Given the description of an element on the screen output the (x, y) to click on. 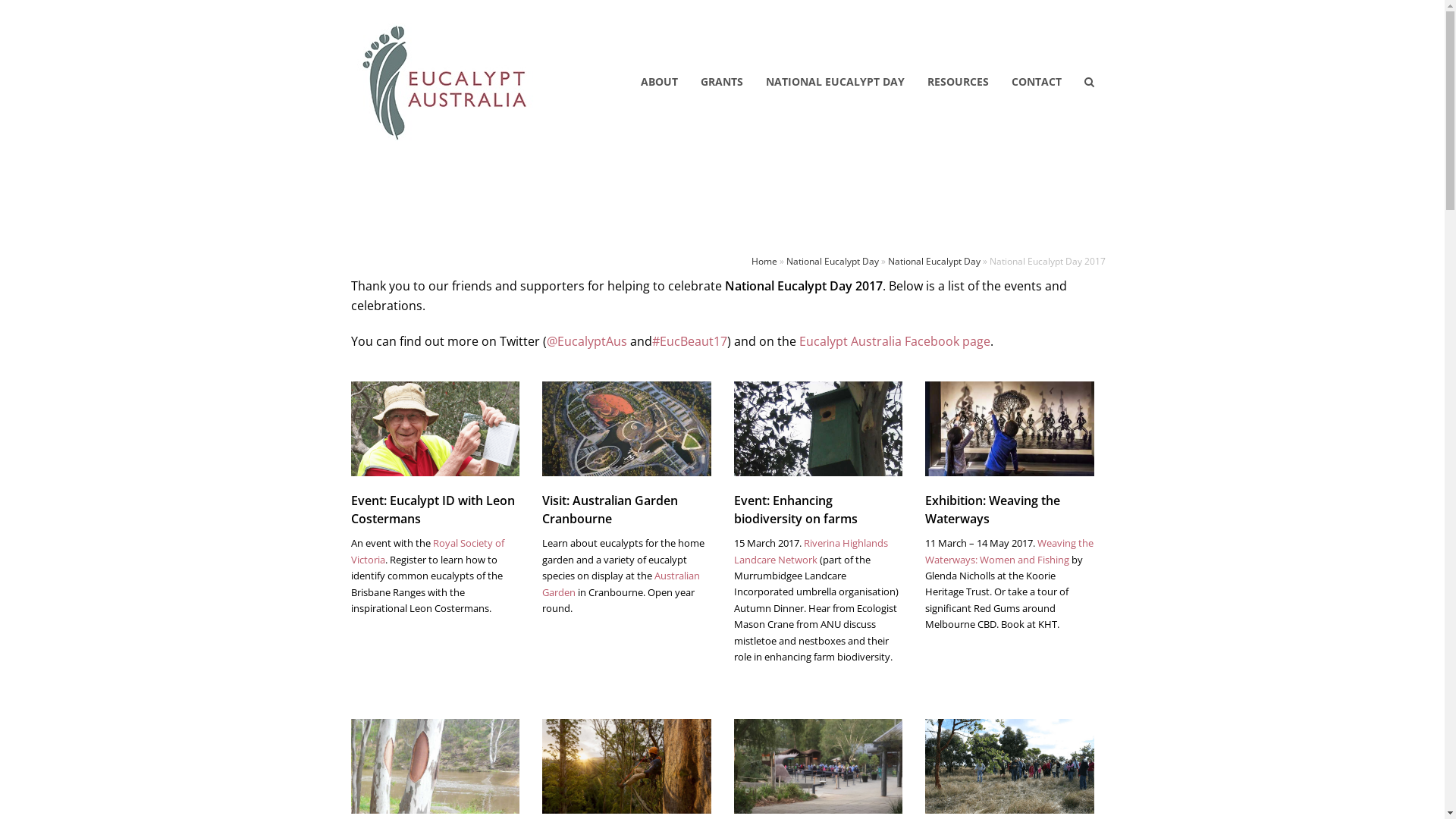
Royal Society of Victoria Element type: text (426, 550)
National Eucalypt Day Element type: text (933, 260)
Australian Garden Element type: text (620, 583)
CONTACT Element type: text (1035, 81)
#EucBeaut17 Element type: text (689, 340)
Home Element type: text (763, 260)
RESOURCES Element type: text (958, 81)
National Eucalypt Day Element type: text (831, 260)
Weaving the Waterways: Women and Fishing Element type: text (1009, 550)
Riverina Highlands Landcare Network Element type: text (811, 550)
NATIONAL EUCALYPT DAY Element type: text (834, 81)
GRANTS Element type: text (720, 81)
@EucalyptAus Element type: text (586, 340)
Eucalypt Australia Facebook page Element type: text (894, 340)
ABOUT Element type: text (659, 81)
